Given the description of an element on the screen output the (x, y) to click on. 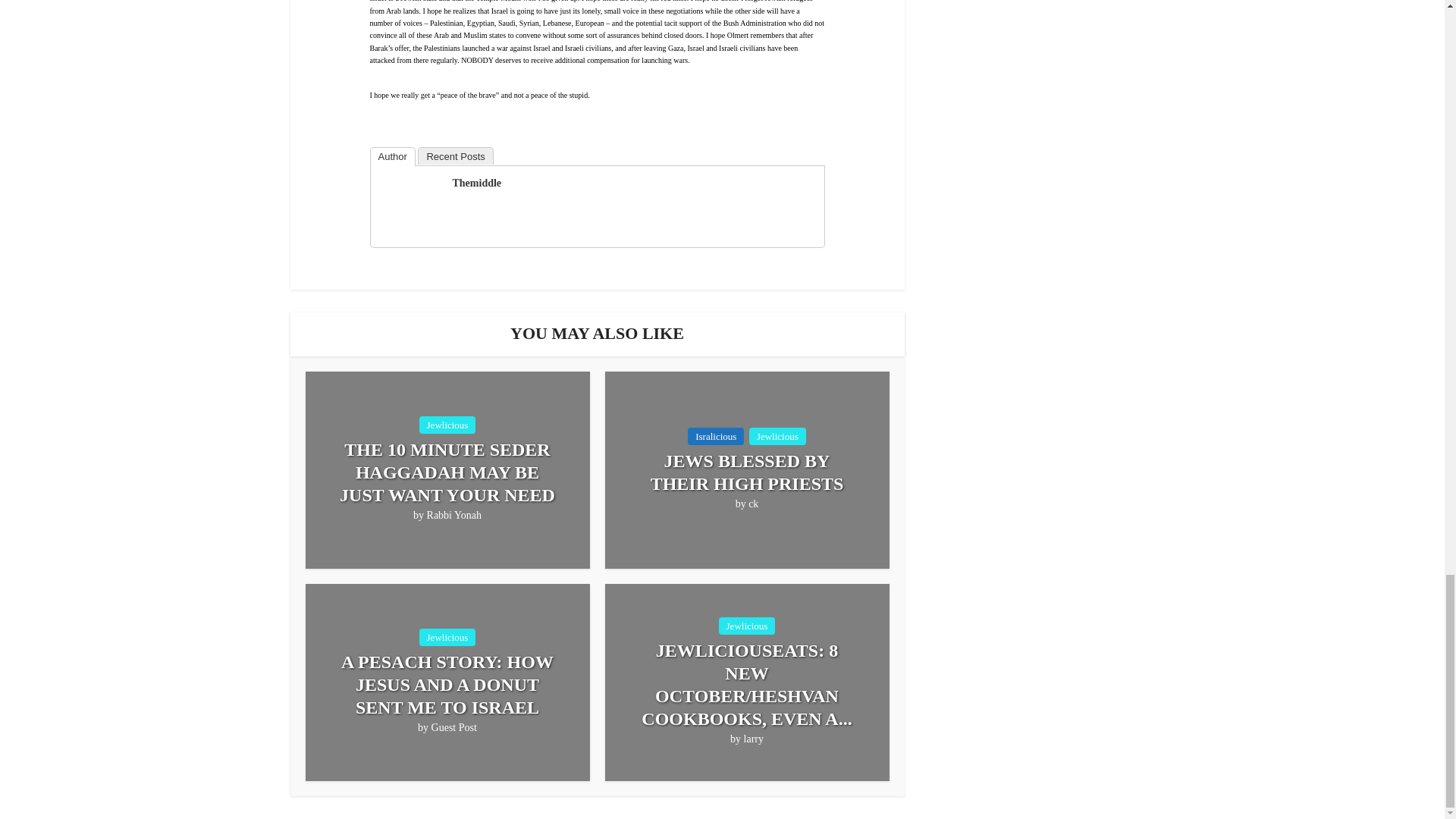
Author (391, 156)
Recent Posts (455, 155)
Jewlicious (447, 637)
Rabbi Yonah (453, 515)
Isralicious (715, 436)
themiddle (408, 203)
A Pesach Story: How Jesus and a Donut Sent me to Israel (446, 684)
Themiddle (475, 183)
THE 10 MINUTE SEDER HAGGADAH MAY BE JUST WANT YOUR NEED (446, 472)
A PESACH STORY: HOW JESUS AND A DONUT SENT ME TO ISRAEL (446, 684)
